Given the description of an element on the screen output the (x, y) to click on. 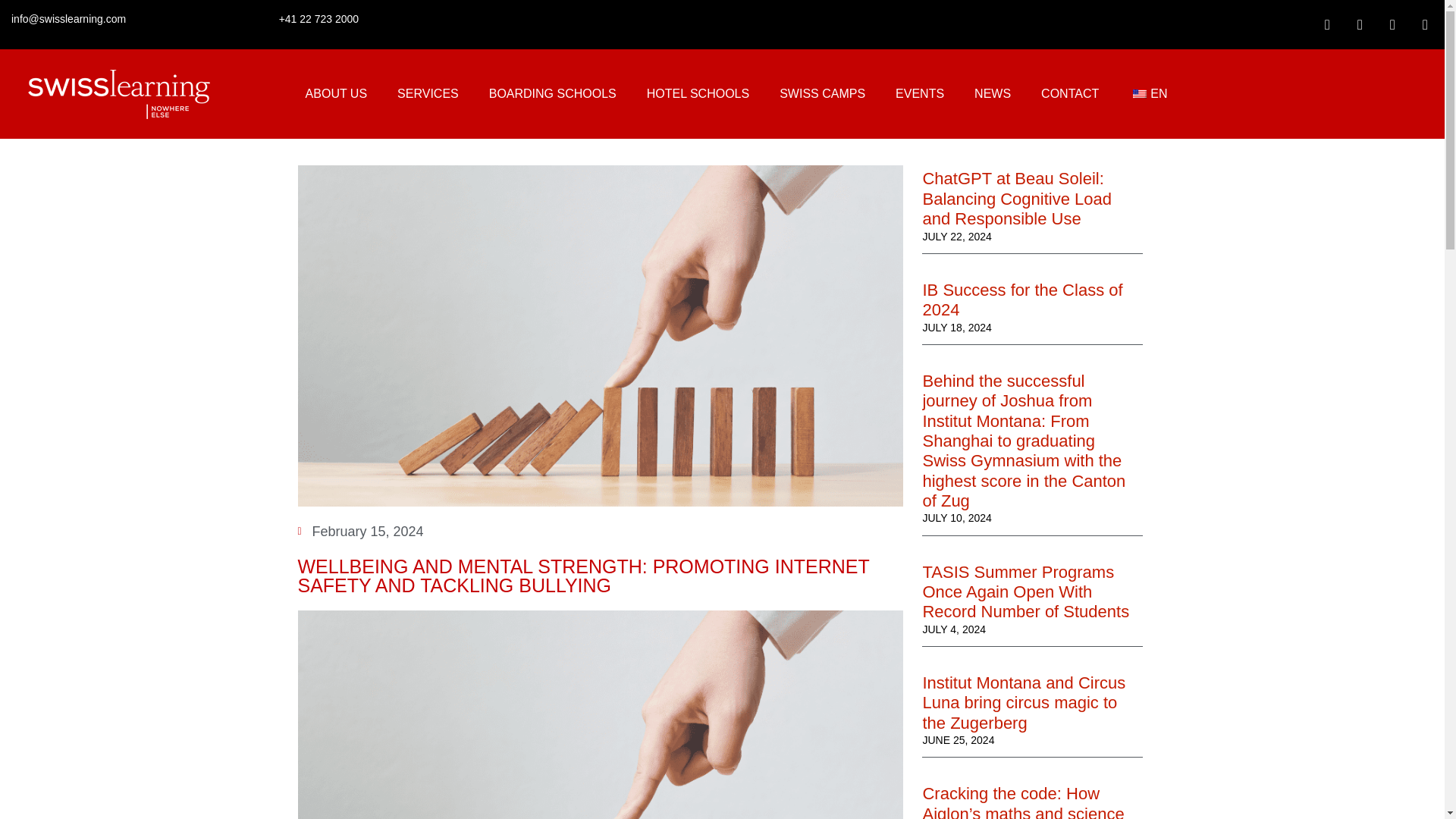
SWISS CAMPS (822, 93)
HOTEL SCHOOLS (697, 93)
BOARDING SCHOOLS (552, 93)
EVENTS (919, 93)
ABOUT US (335, 93)
SERVICES (427, 93)
NEWS (992, 93)
English (1139, 93)
CONTACT (1069, 93)
